Given the description of an element on the screen output the (x, y) to click on. 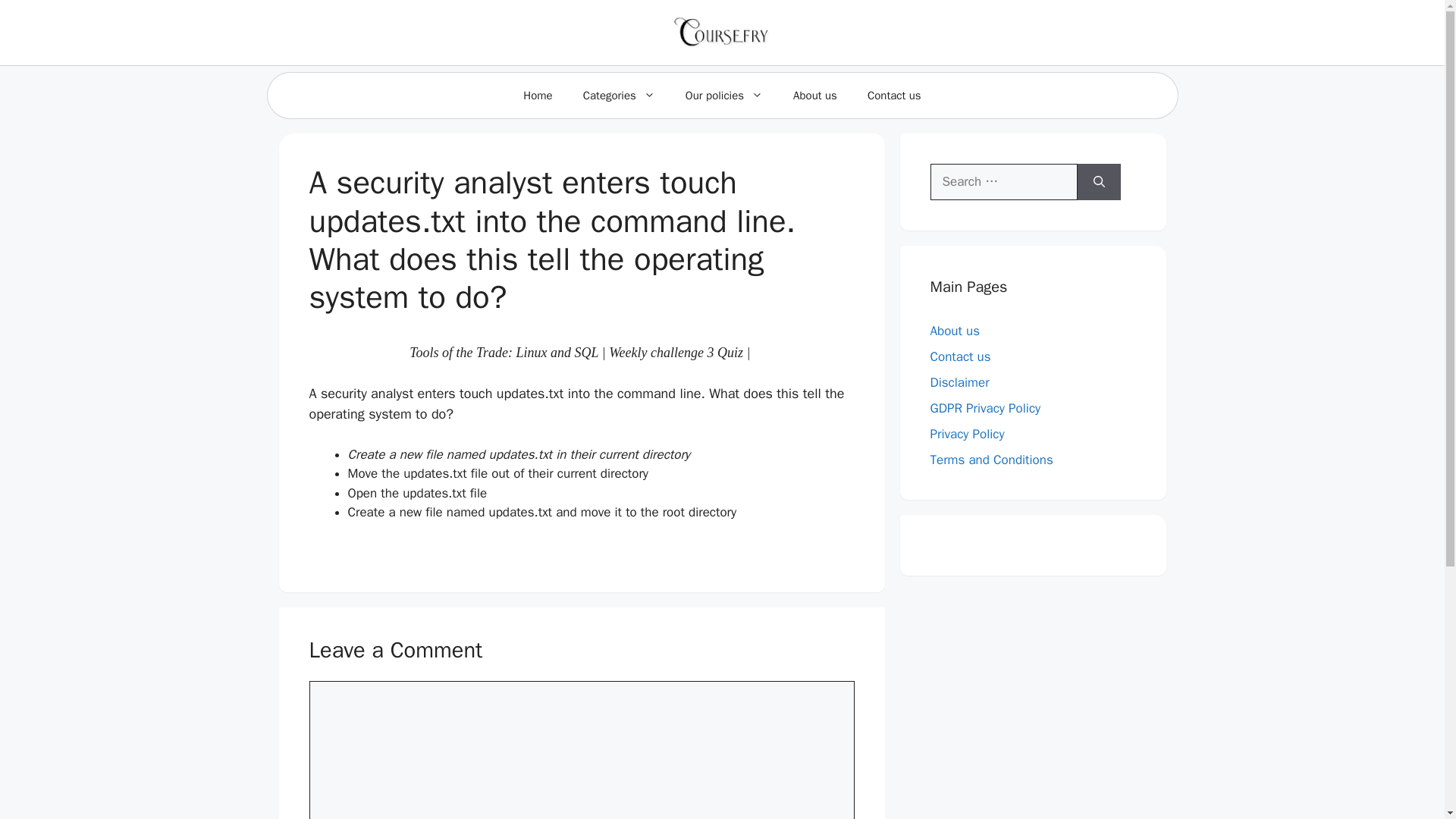
Terms and Conditions (991, 459)
Search for: (1003, 181)
GDPR Privacy Policy (985, 408)
Privacy Policy (967, 433)
About us (954, 330)
Contact us (960, 356)
Disclaimer (959, 382)
Contact us (893, 94)
About us (814, 94)
Our policies (723, 94)
Home (537, 94)
Categories (618, 94)
